Given the description of an element on the screen output the (x, y) to click on. 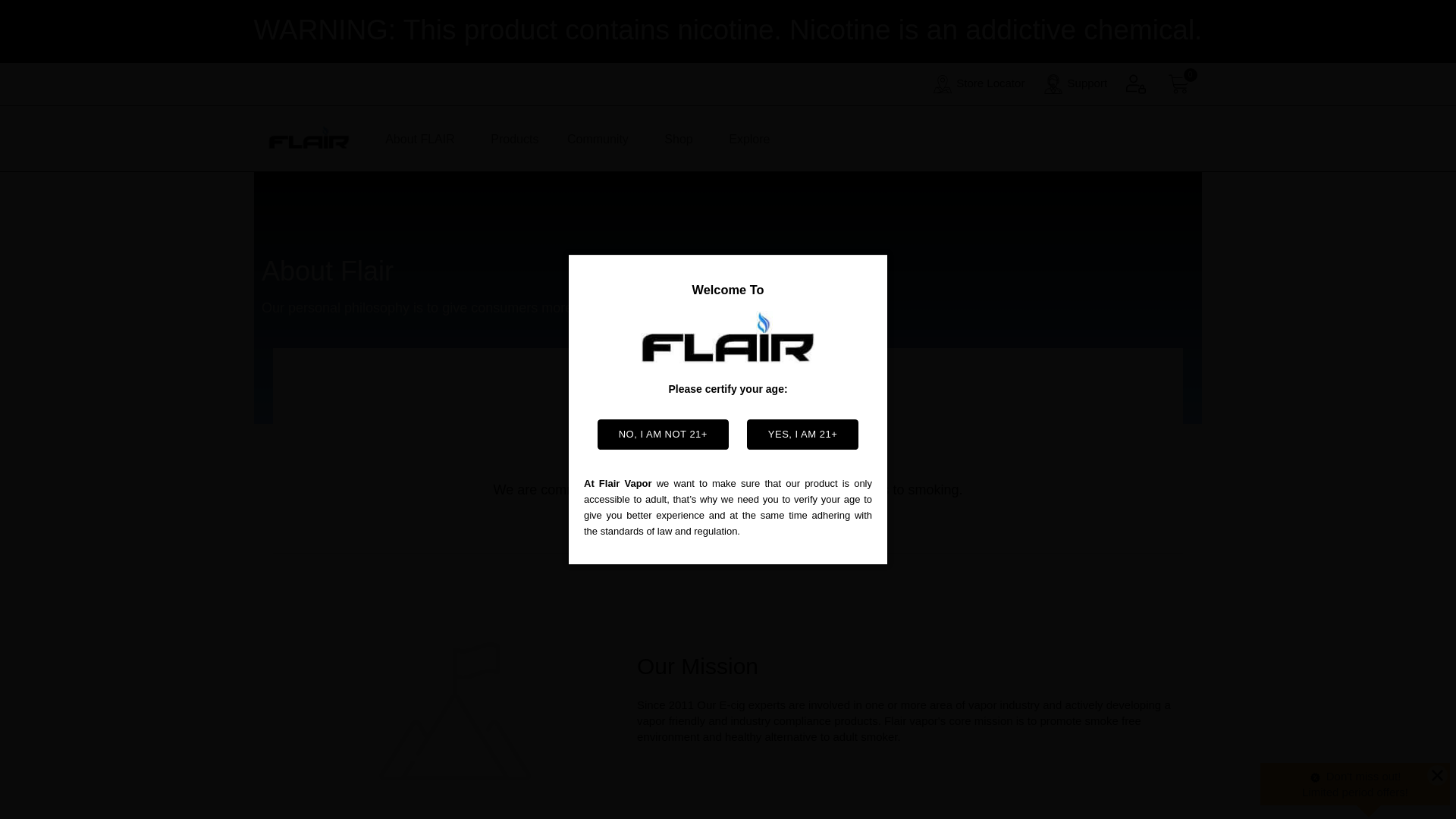
Shop (678, 138)
Go to Home Page (308, 138)
Support (1074, 84)
0 (1180, 84)
Store Locator (979, 84)
About FLAIR (419, 138)
